Given the description of an element on the screen output the (x, y) to click on. 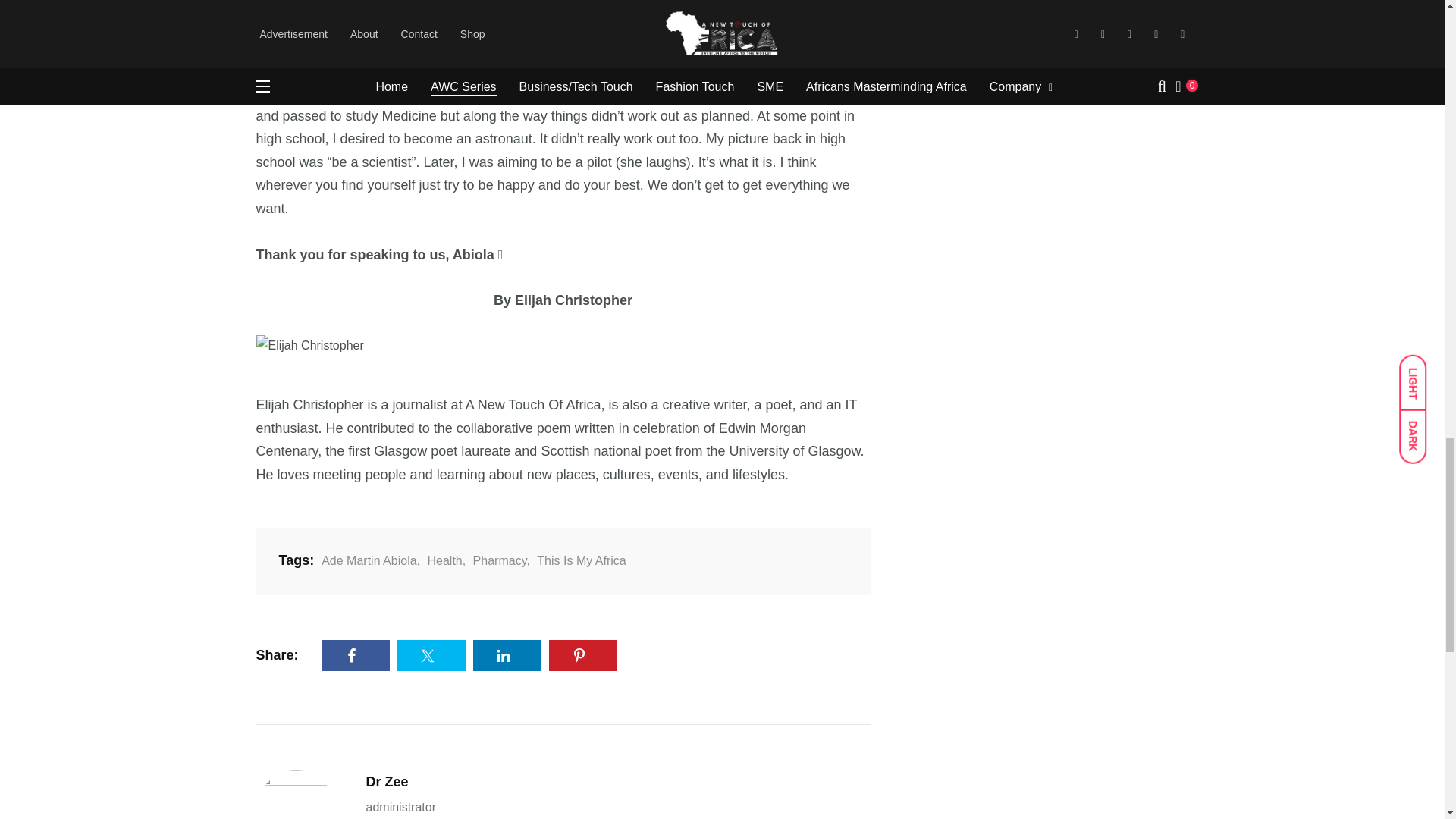
Share on Facebook (355, 654)
Share on Twitter (431, 654)
Share on Pinterest (582, 654)
Share on LinkedIn (507, 654)
